Given the description of an element on the screen output the (x, y) to click on. 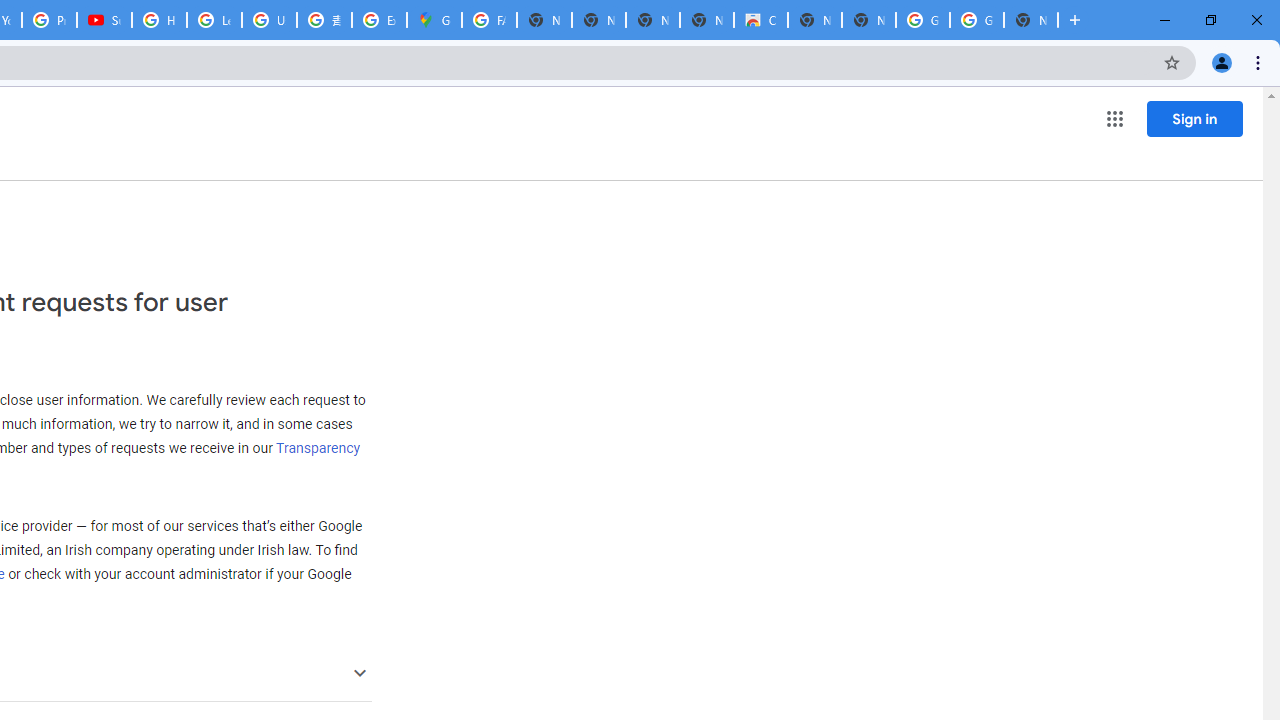
Chrome Web Store (760, 20)
Subscriptions - YouTube (103, 20)
Google Images (922, 20)
Explore new street-level details - Google Maps Help (379, 20)
How Chrome protects your passwords - Google Chrome Help (158, 20)
New Tab (1030, 20)
